Given the description of an element on the screen output the (x, y) to click on. 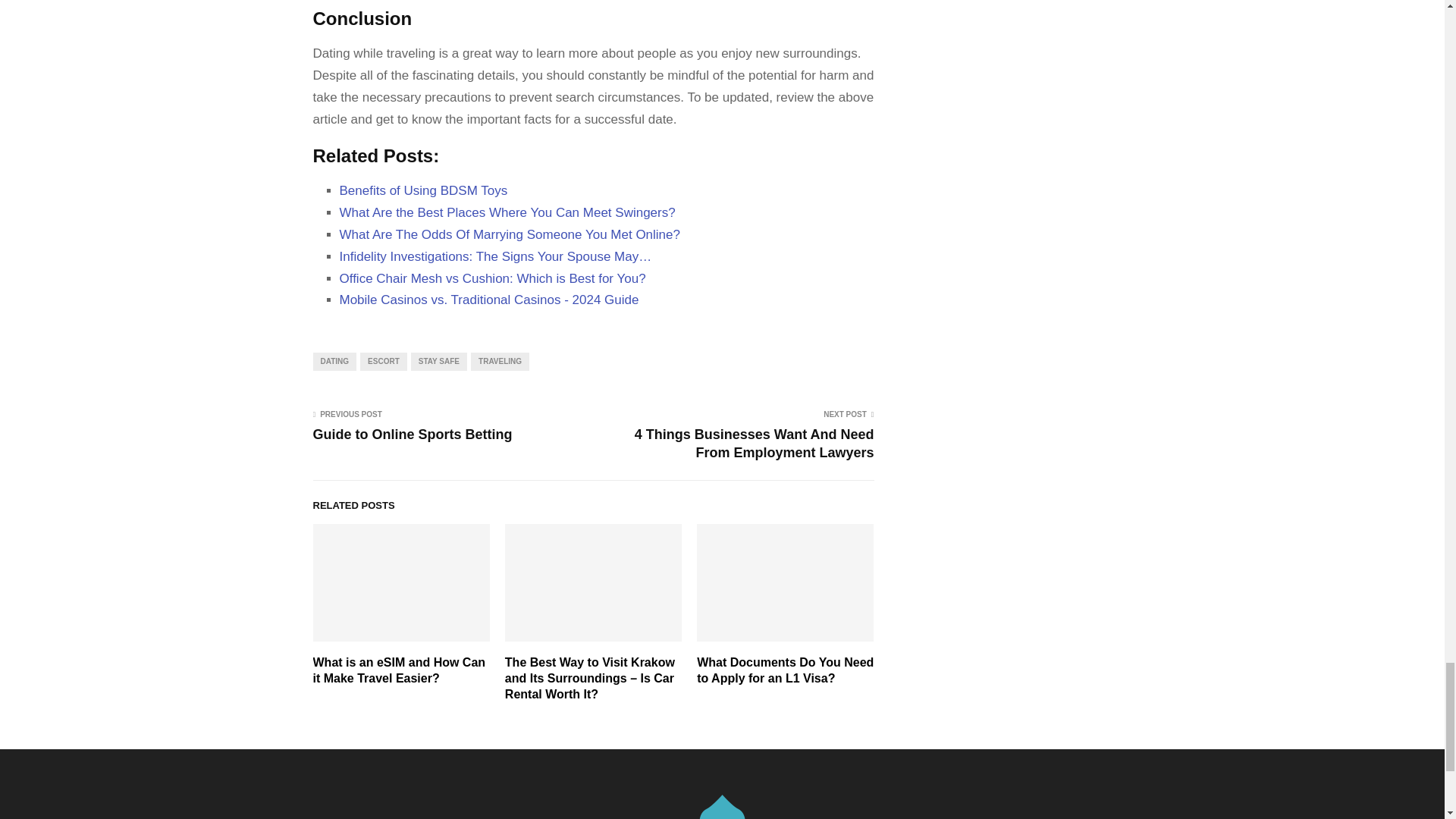
Guide to Online Sports Betting (412, 434)
What Are the Best Places Where You Can Meet Swingers? (507, 212)
Benefits of Using BDSM Toys (423, 190)
Mobile Casinos vs. Traditional Casinos - 2024 Guide (489, 299)
TRAVELING (499, 361)
ESCORT (383, 361)
STAY SAFE (438, 361)
DATING (334, 361)
What Are The Odds Of Marrying Someone You Met Online? (509, 234)
Office Chair Mesh vs Cushion: Which is Best for You? (492, 278)
